Given the description of an element on the screen output the (x, y) to click on. 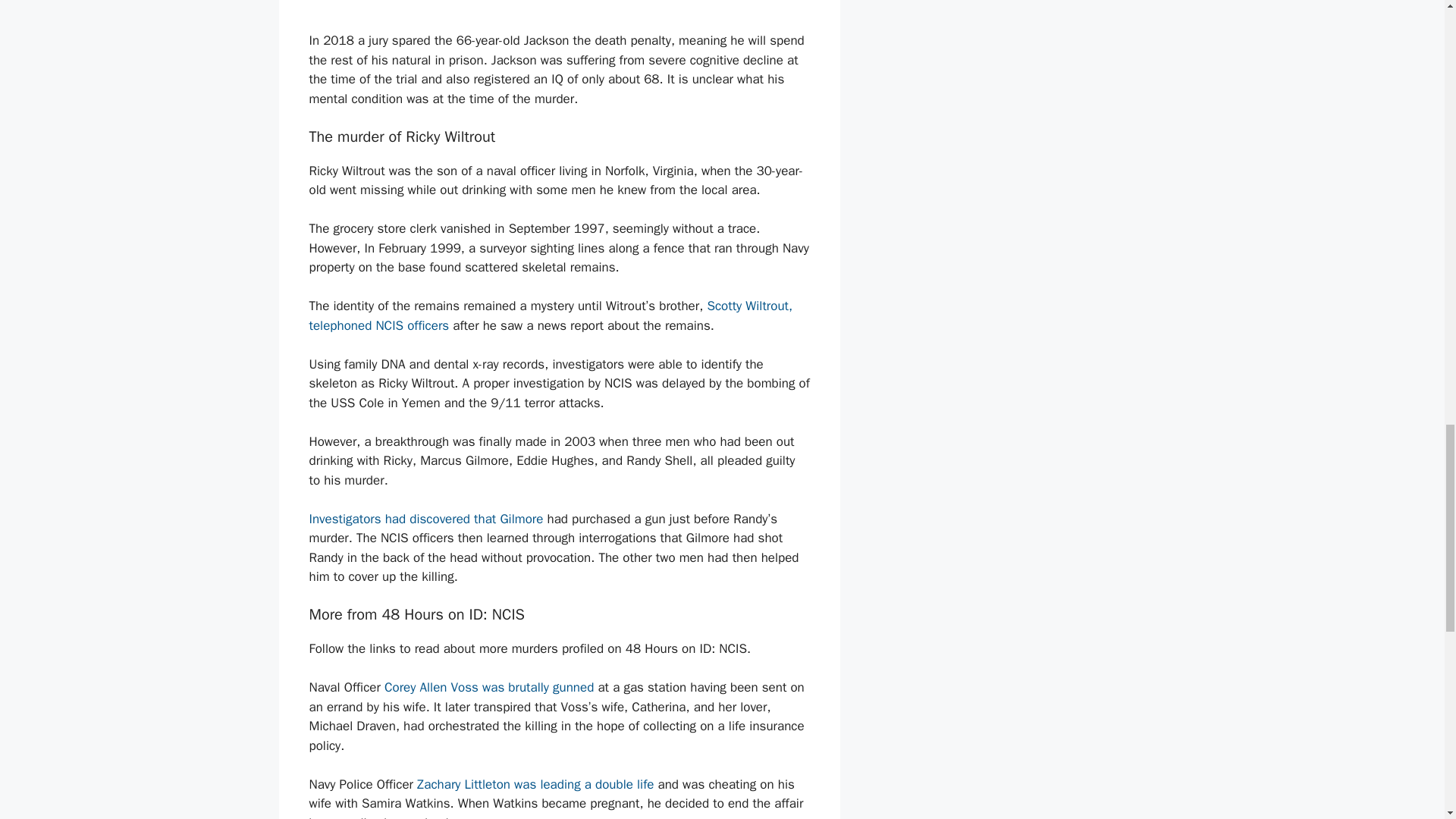
Zachary Littleton was leading a double life (534, 784)
YouTube video player (559, 12)
Investigators had discovered that Gilmore (425, 519)
Scotty Wiltrout, telephoned NCIS officers (550, 315)
Corey Allen Voss was brutally gunned (490, 687)
